Given the description of an element on the screen output the (x, y) to click on. 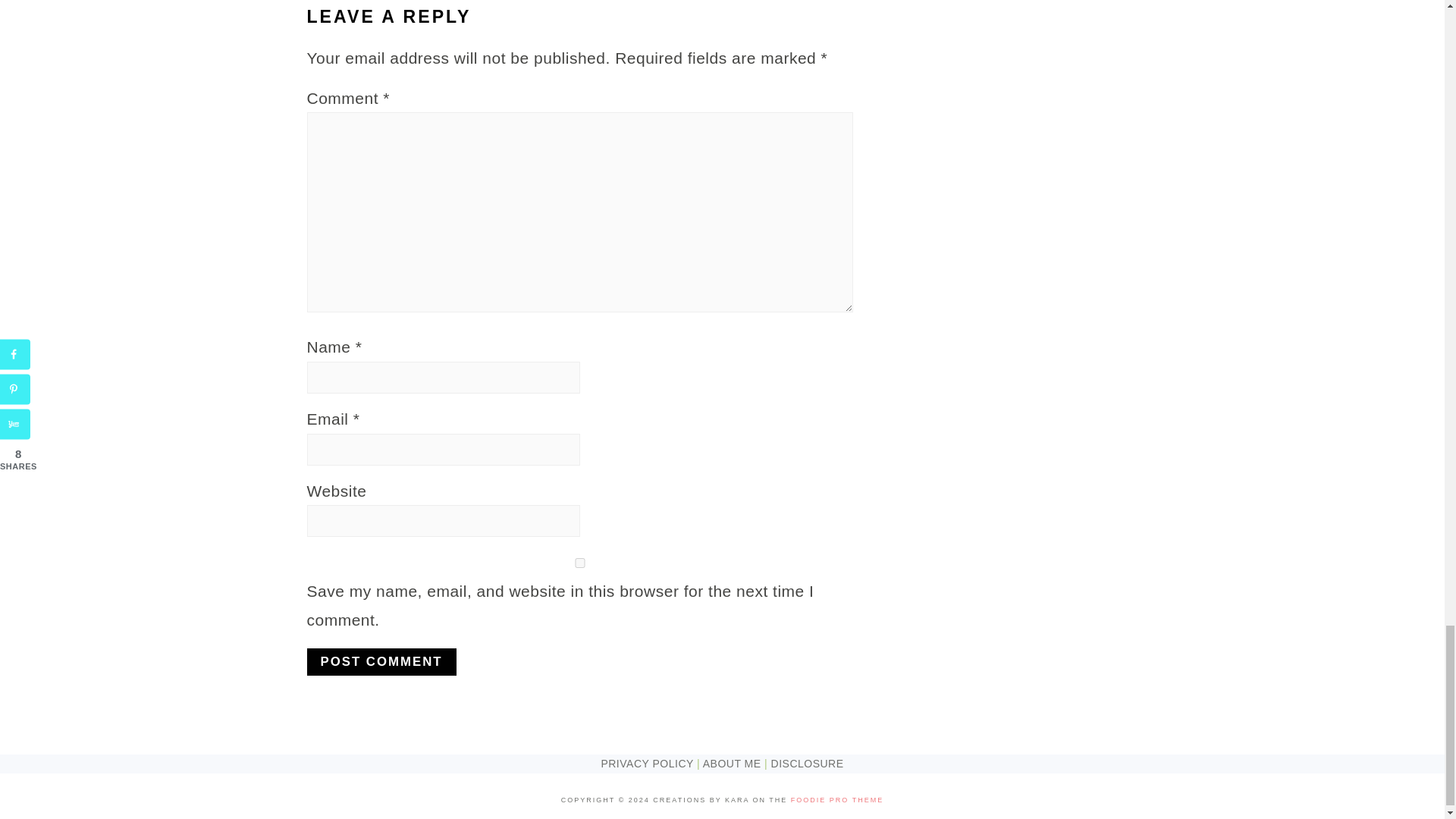
yes (578, 562)
About Me (732, 763)
Post Comment (380, 661)
Privacy Policy (646, 763)
Disclosure (807, 763)
